Given the description of an element on the screen output the (x, y) to click on. 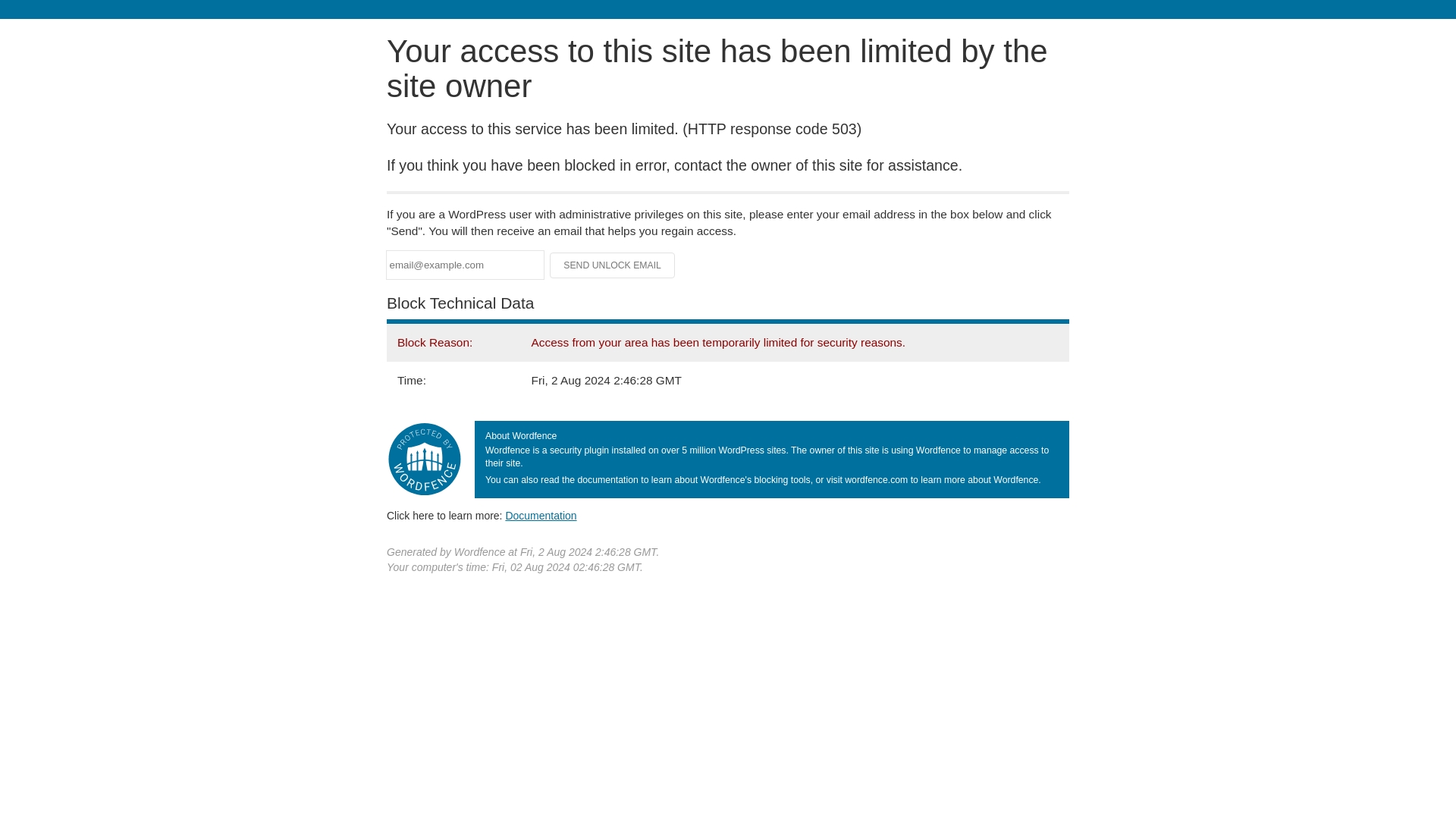
Send Unlock Email (612, 265)
Send Unlock Email (612, 265)
Documentation (540, 515)
